Given the description of an element on the screen output the (x, y) to click on. 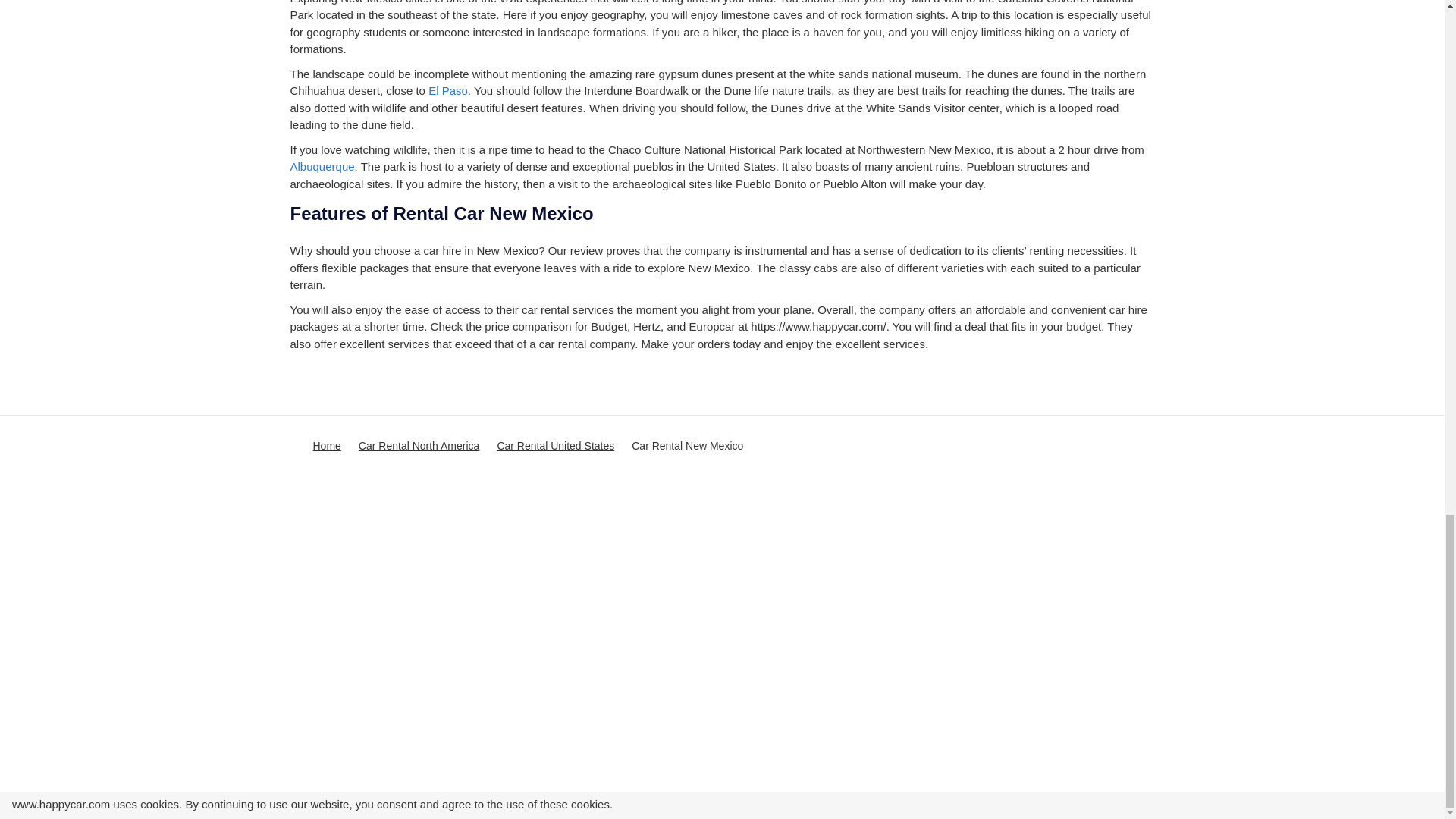
Car Rental United States (555, 446)
Car Rental North America (419, 446)
Albuquerque (321, 165)
El Paso (447, 90)
Home (326, 446)
